Given the description of an element on the screen output the (x, y) to click on. 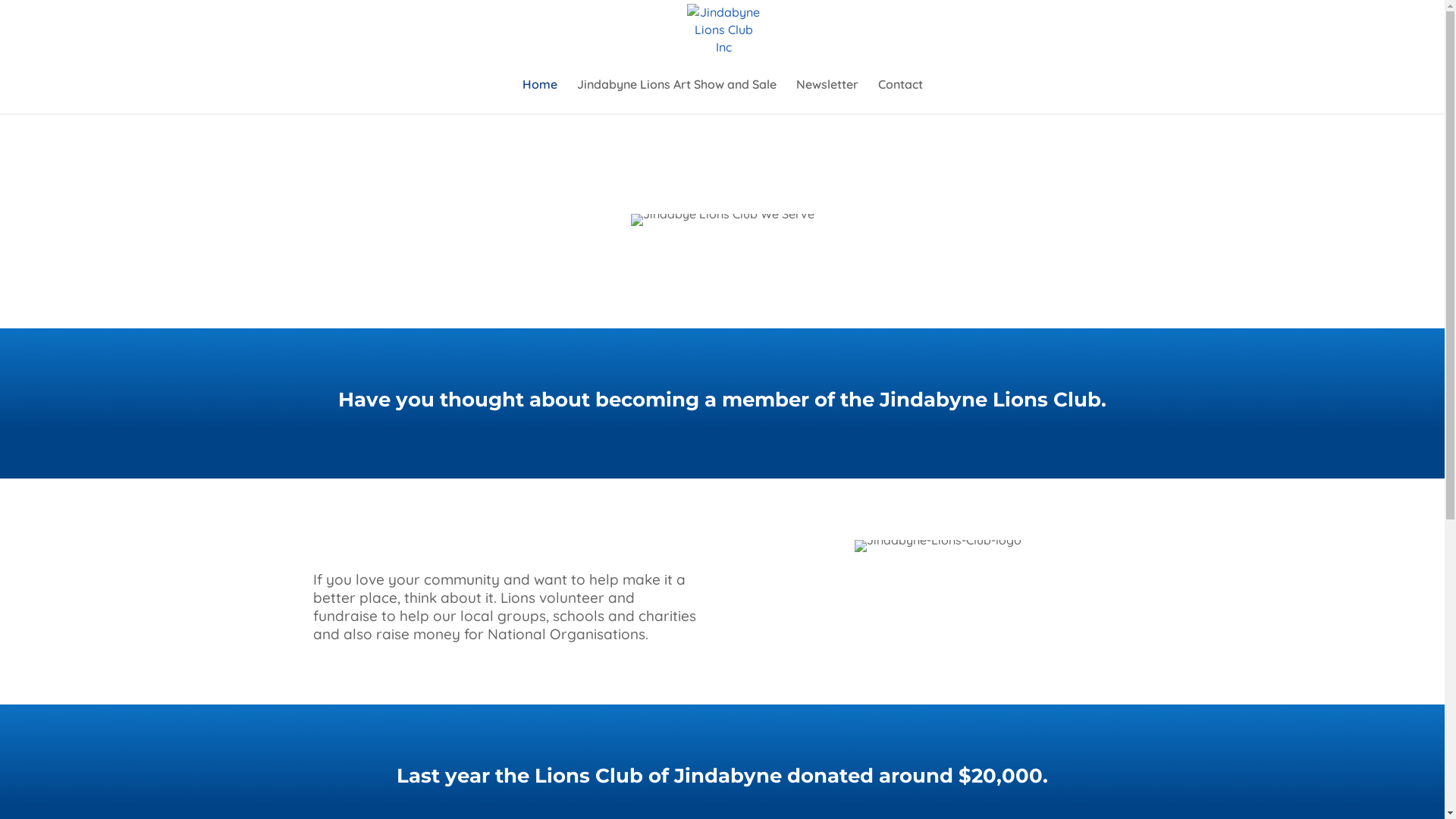
Newsletter Element type: text (827, 95)
Contact Element type: text (900, 95)
Jindabyne Lions Art Show and Sale Element type: text (675, 95)
Jindabyne-Lions-Club-logo Element type: hover (937, 545)
Jindabye-Lions-Club-We-Serve Element type: hover (722, 219)
Home Element type: text (538, 95)
